Given the description of an element on the screen output the (x, y) to click on. 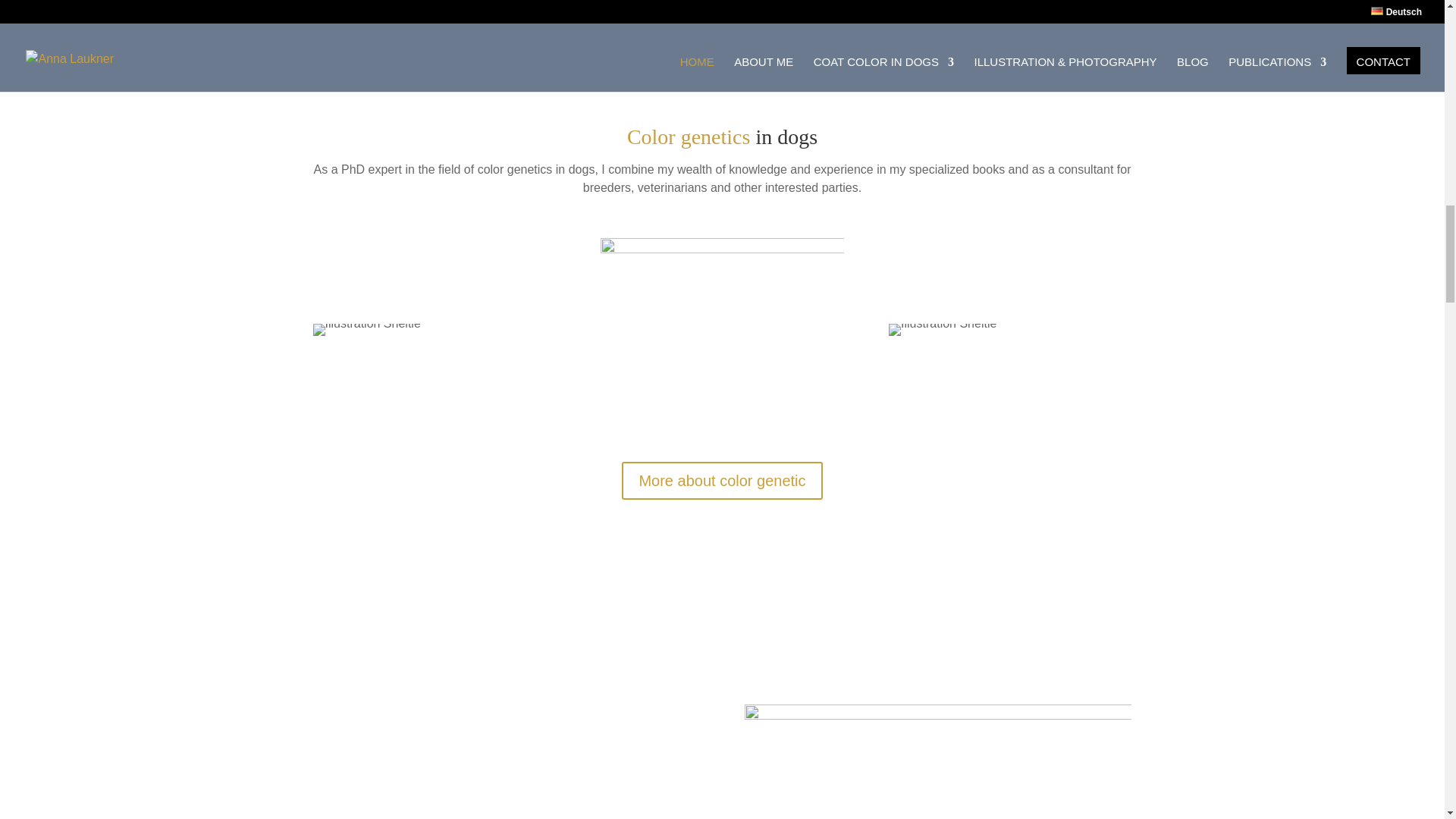
Illustration Barbet (721, 329)
Tierillustration von Anna Laukner (937, 761)
Illustration Sheltie (366, 329)
More about color genetic (721, 480)
Illustration Saluki (941, 329)
